Given the description of an element on the screen output the (x, y) to click on. 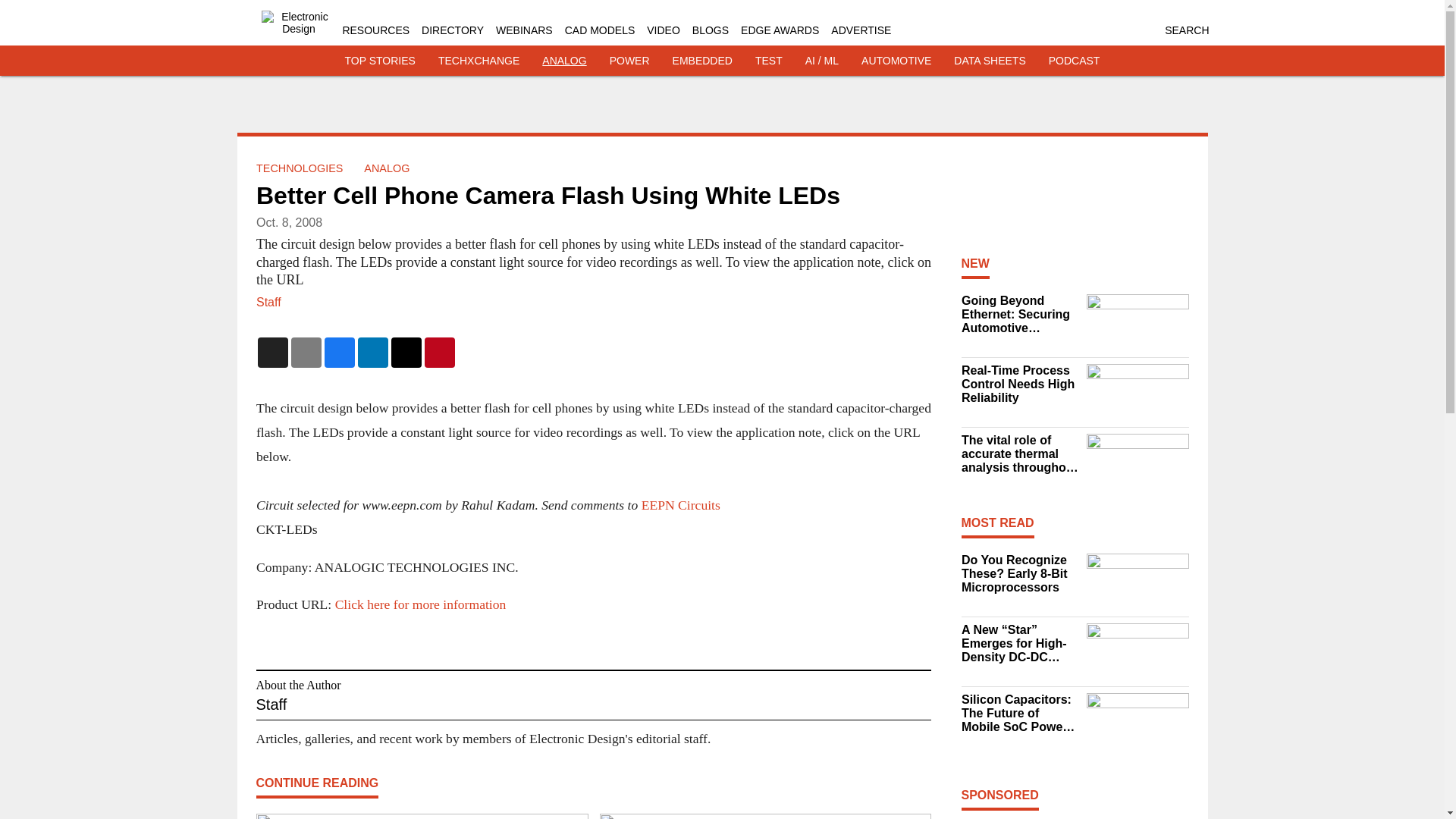
RESOURCES (375, 30)
Click here for more information (419, 604)
ANALOG (563, 60)
PODCAST (1074, 60)
DIRECTORY (452, 30)
Staff (268, 301)
EMBEDDED (702, 60)
CAD MODELS (599, 30)
POWER (629, 60)
